Given the description of an element on the screen output the (x, y) to click on. 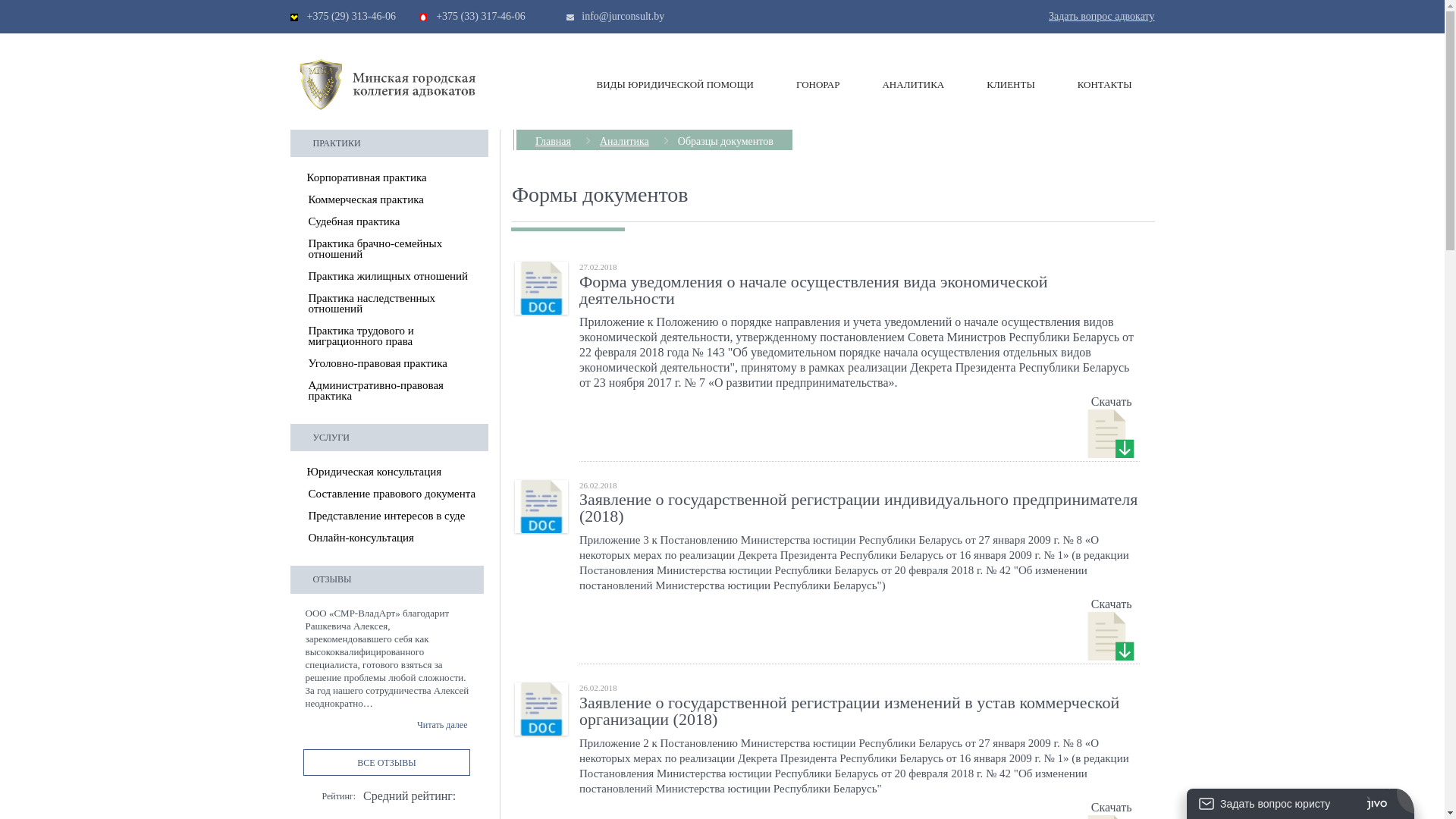
info@jurconsult.by Element type: text (622, 15)
+375 (33) 317-46-06 Element type: text (480, 15)
+375 (29) 313-46-06 Element type: text (350, 15)
